Given the description of an element on the screen output the (x, y) to click on. 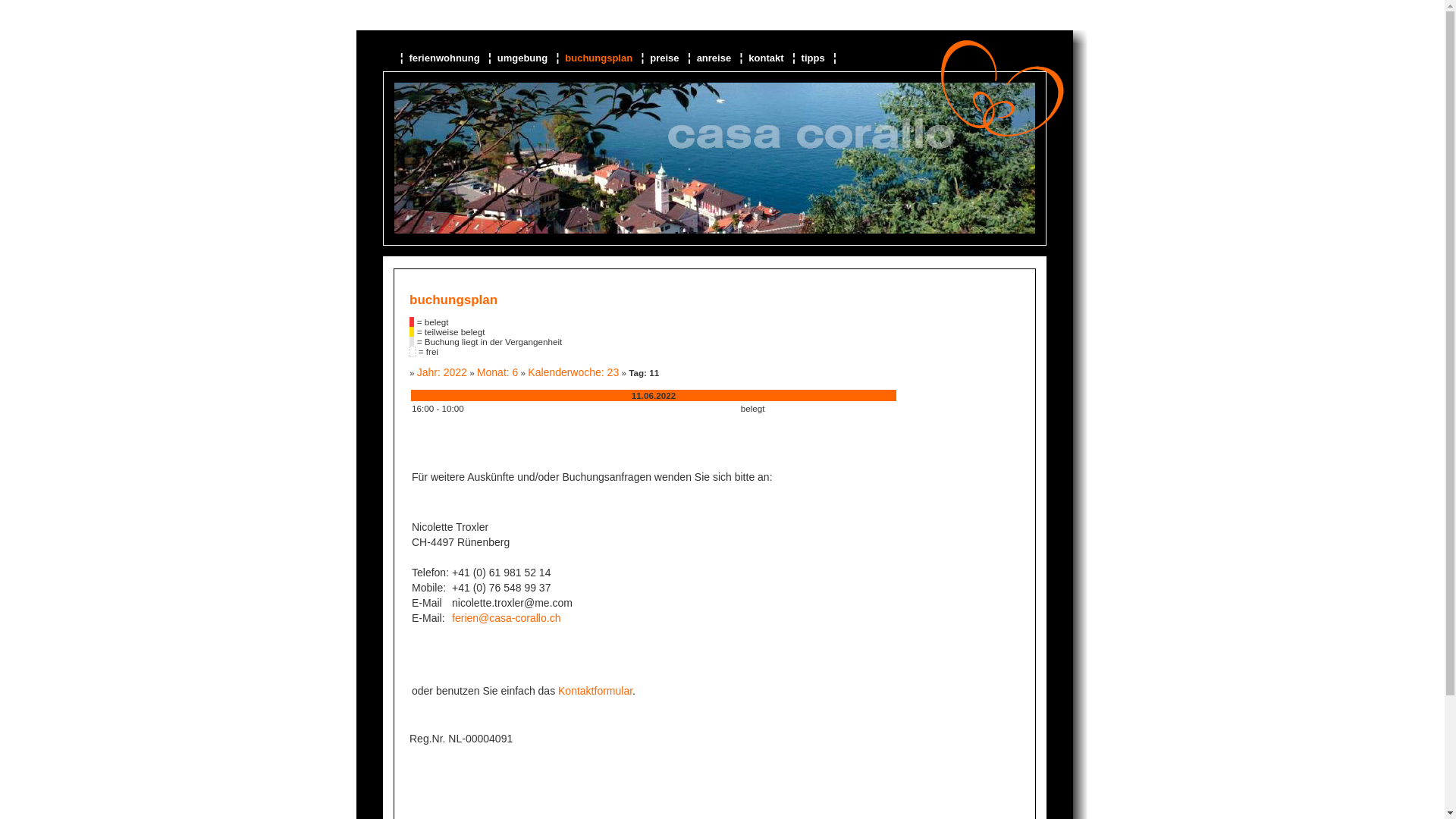
buchungsplan Element type: text (599, 57)
tipps Element type: text (814, 57)
preise Element type: text (665, 57)
Monat: 6 Element type: text (496, 372)
Kalenderwoche: 23 Element type: text (572, 372)
kontakt Element type: text (767, 57)
Kontaktformular Element type: text (595, 690)
umgebung Element type: text (523, 57)
Jahr: 2022 Element type: text (442, 372)
anreise Element type: text (715, 57)
ferien@casa-corallo.ch Element type: text (505, 617)
ferienwohnung Element type: text (445, 57)
